Given the description of an element on the screen output the (x, y) to click on. 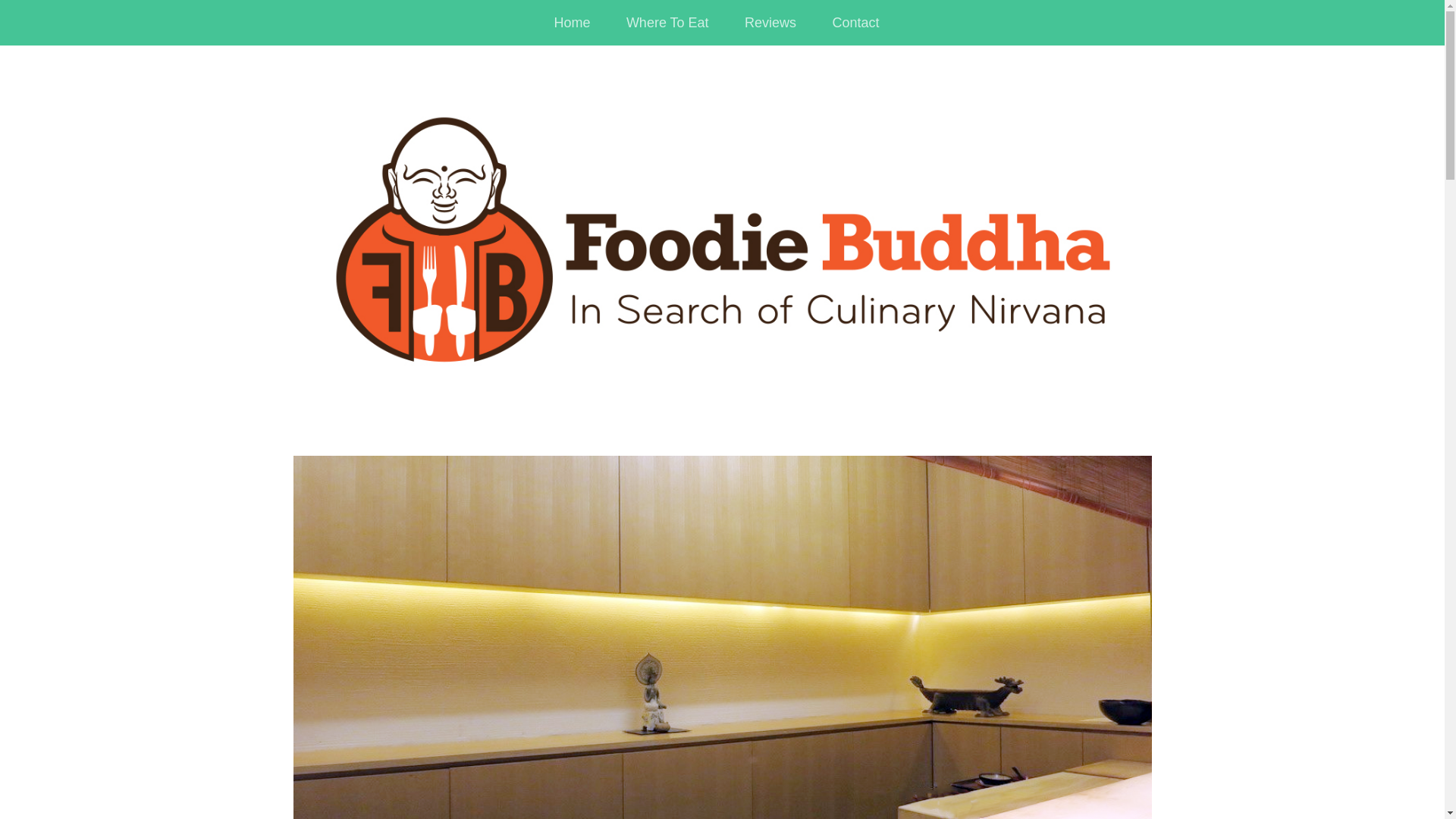
Contact (855, 22)
Reviews (769, 22)
Home (571, 22)
Where To Eat (667, 22)
